Given the description of an element on the screen output the (x, y) to click on. 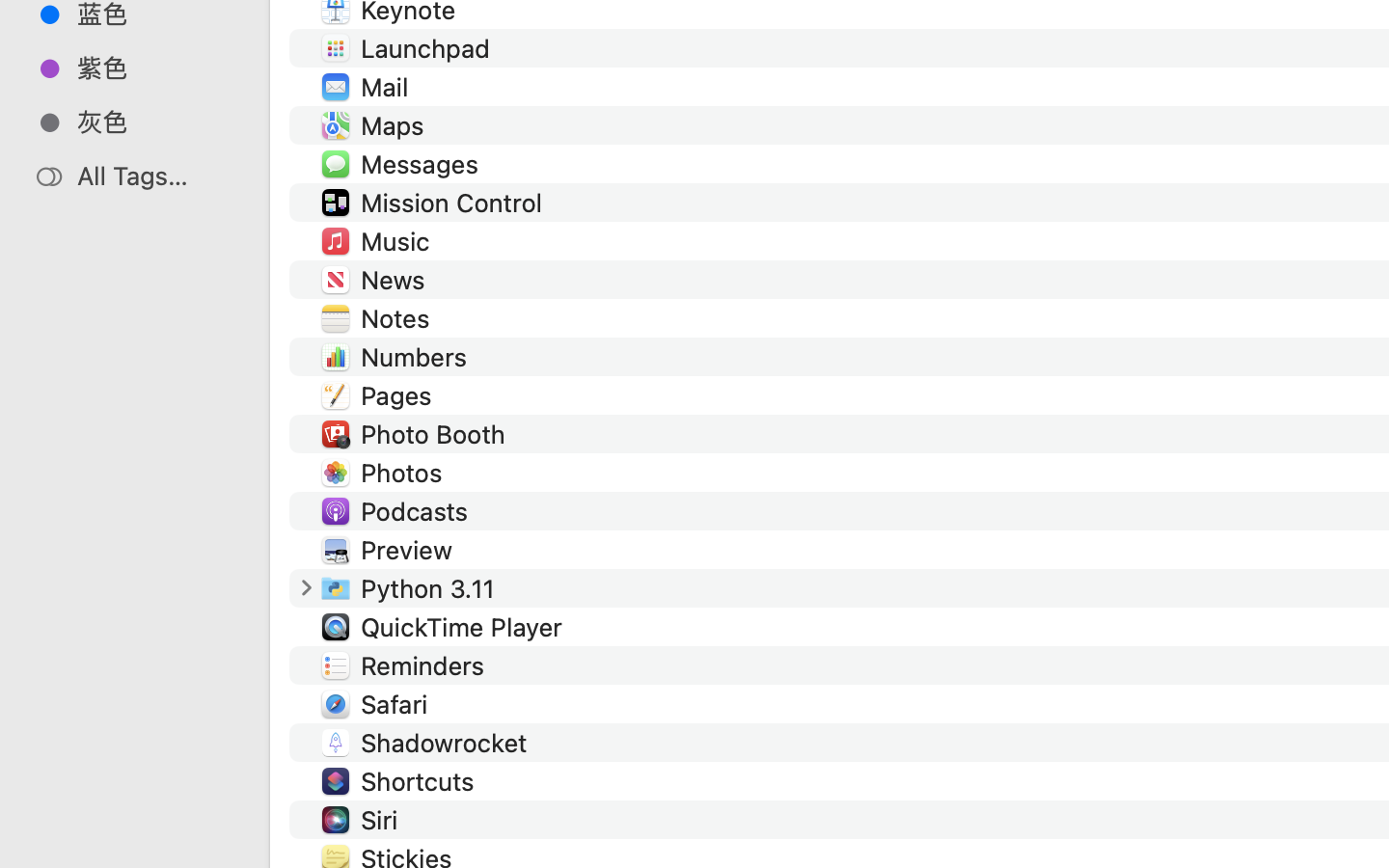
Reminders Element type: AXTextField (426, 665)
Mission Control Element type: AXTextField (455, 202)
Photo Booth Element type: AXTextField (436, 433)
Launchpad Element type: AXTextField (429, 47)
0 Element type: AXRadioButton (23, 846)
